Given the description of an element on the screen output the (x, y) to click on. 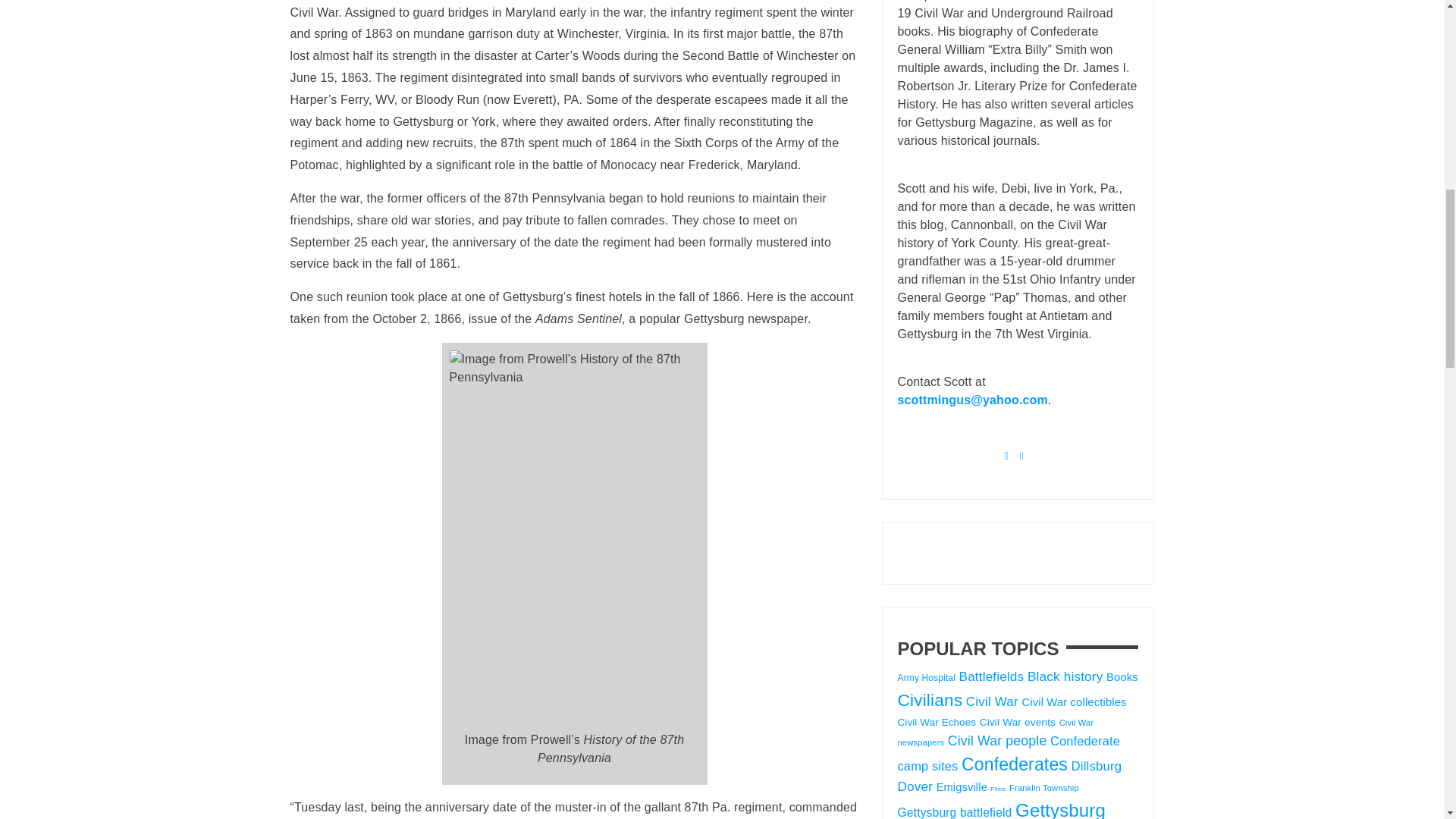
Civil War events (1017, 722)
Battlefields (992, 676)
Army Hospital (926, 677)
Confederate camp sites (1009, 753)
Civil War people (996, 740)
Black history (1065, 676)
Civil War collectibles (1073, 702)
Confederates (1013, 763)
Civilians (930, 700)
Books (1122, 676)
